Given the description of an element on the screen output the (x, y) to click on. 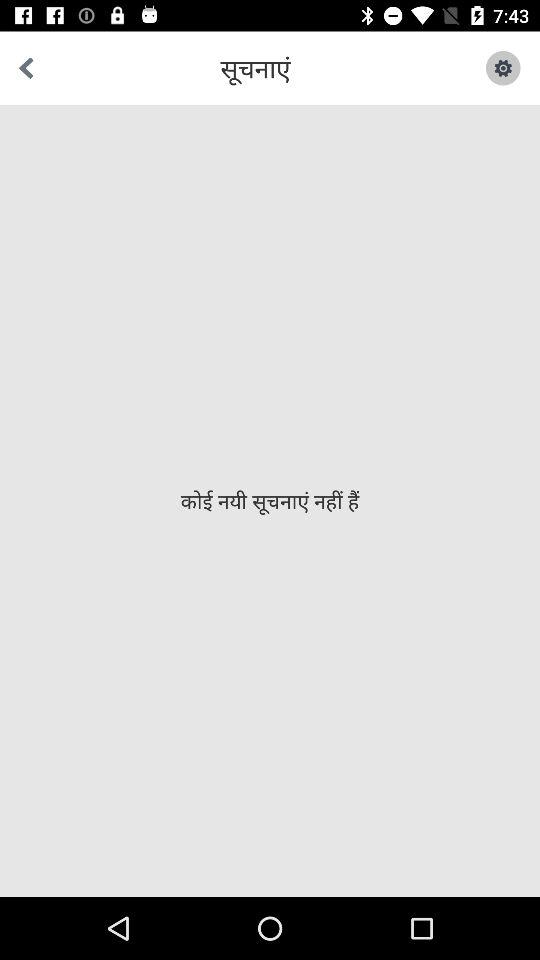
tap the icon at the top right corner (491, 68)
